Given the description of an element on the screen output the (x, y) to click on. 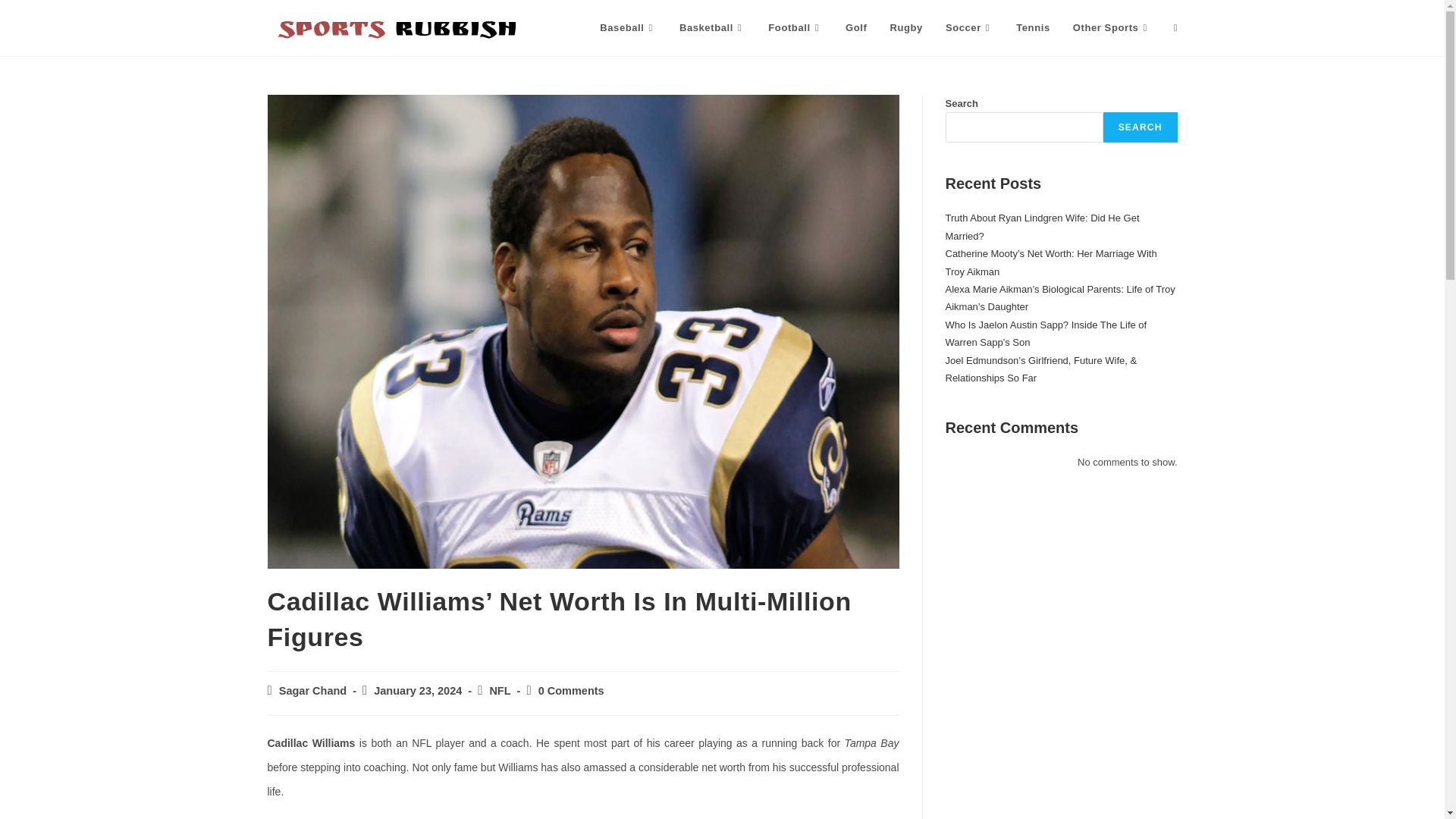
Rugby (905, 28)
Soccer (969, 28)
Basketball (712, 28)
Baseball (628, 28)
Other Sports (1111, 28)
Posts by Sagar chand (312, 690)
Tennis (1032, 28)
Football (795, 28)
